Given the description of an element on the screen output the (x, y) to click on. 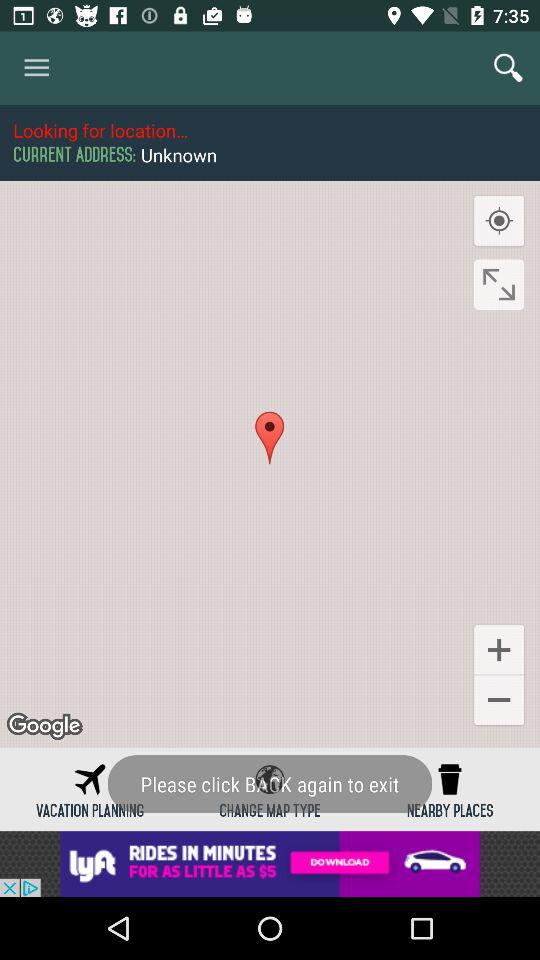
advertisement banner (270, 864)
